Given the description of an element on the screen output the (x, y) to click on. 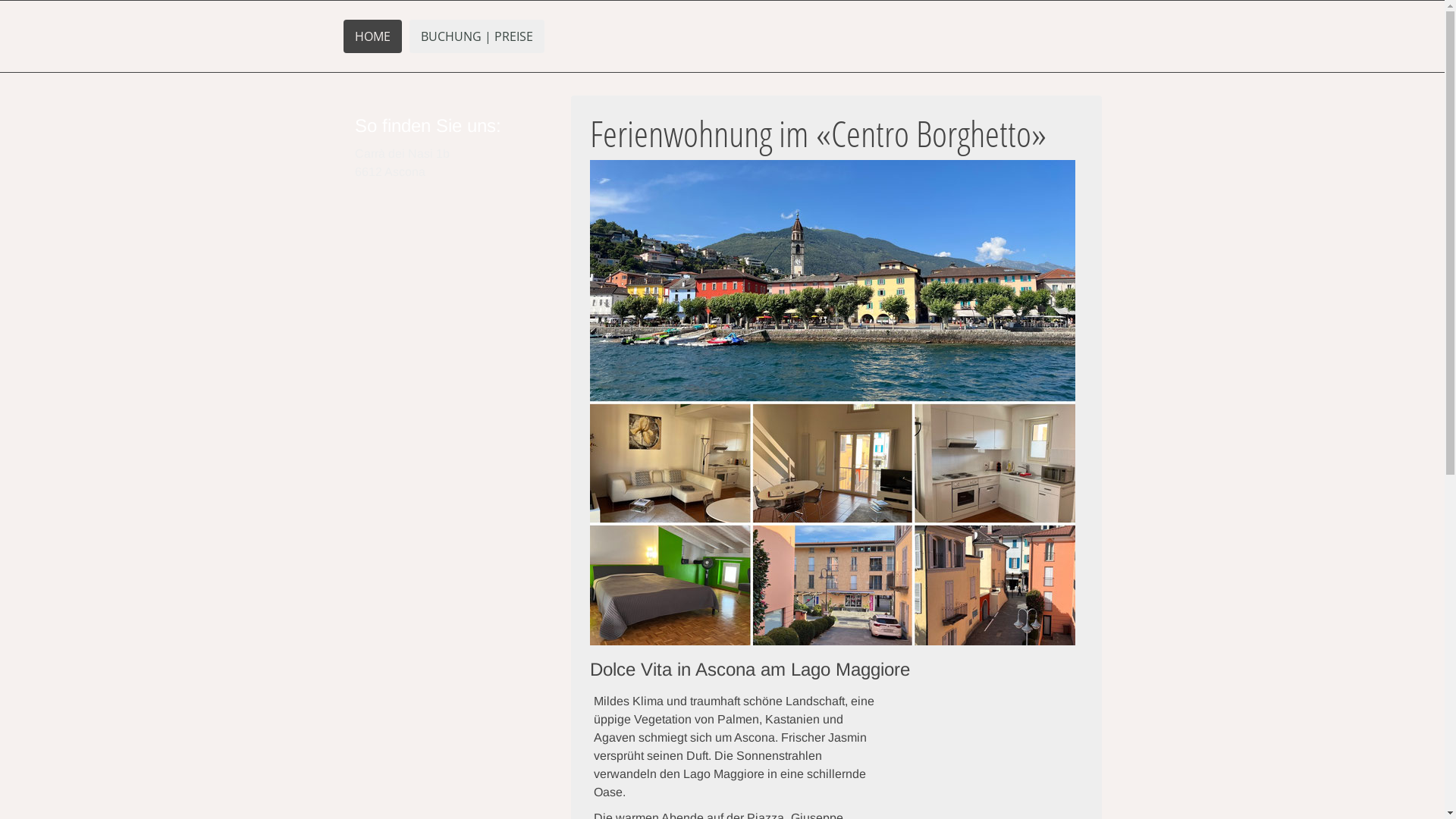
HOME Element type: text (371, 36)
BUCHUNG | PREISE Element type: text (476, 36)
